Given the description of an element on the screen output the (x, y) to click on. 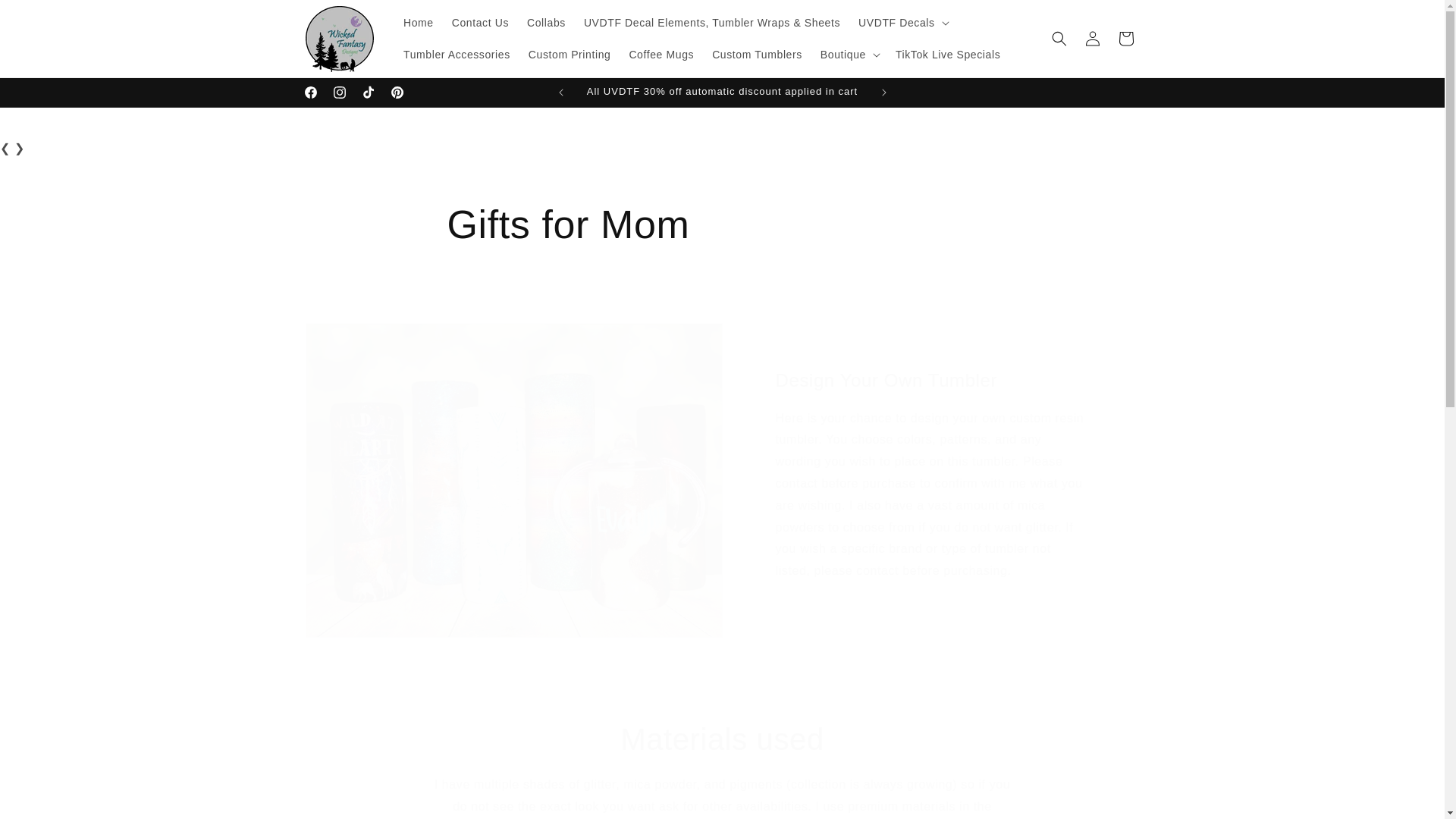
Materials used (721, 739)
Skip to content (45, 17)
Gifts for Mom (721, 224)
Home (418, 22)
Contact Us (480, 22)
